Given the description of an element on the screen output the (x, y) to click on. 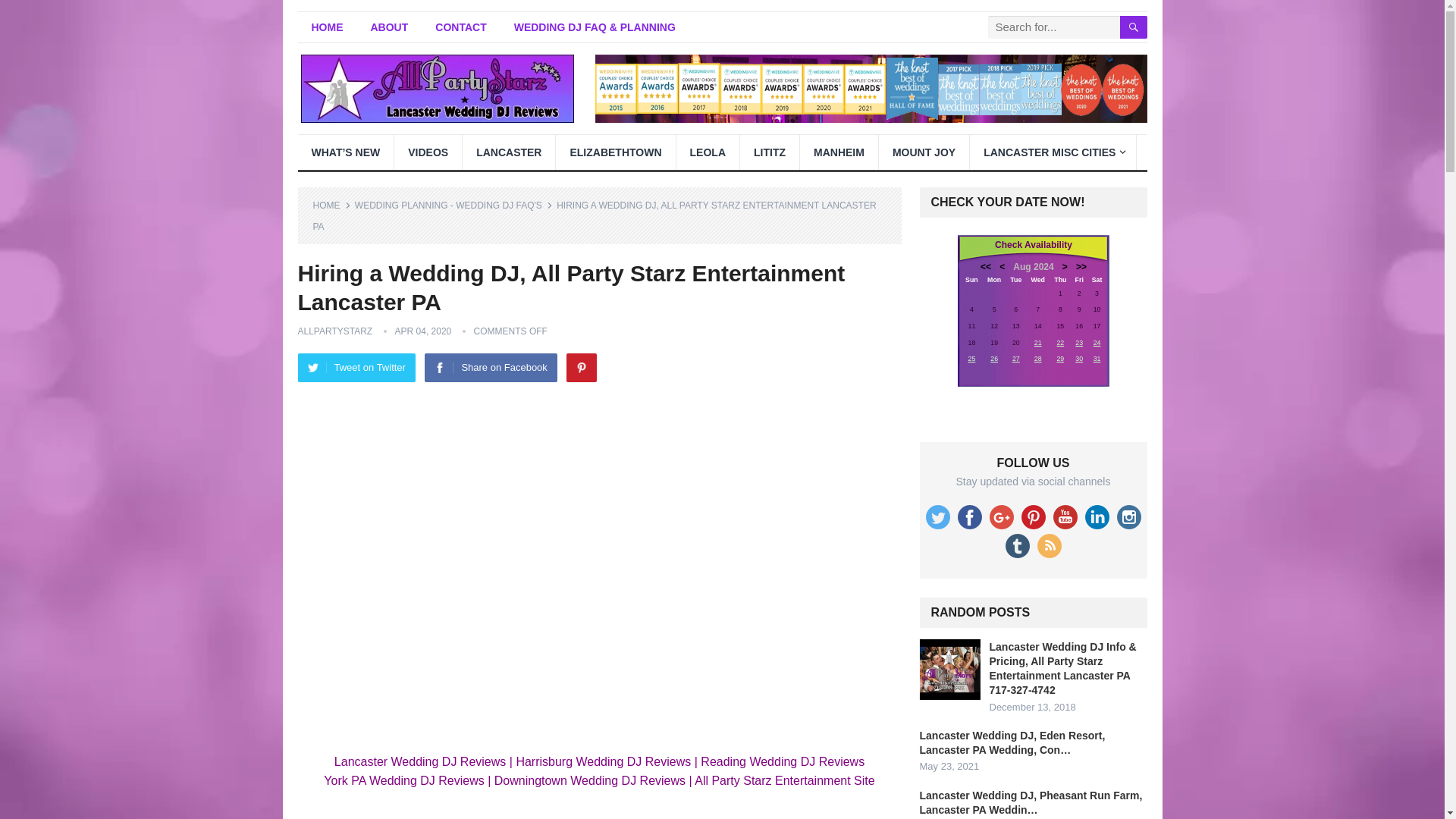
MOUNT JOY (924, 152)
Tweet on Twitter (355, 367)
HOME (326, 27)
View all posts in Wedding Planning - Wedding DJ FAQ's (454, 204)
LEOLA (708, 152)
LITITZ (769, 152)
HOME (331, 204)
LANCASTER MISC CITIES (1052, 152)
ELIZABETHTOWN (615, 152)
CONTACT (460, 27)
